Given the description of an element on the screen output the (x, y) to click on. 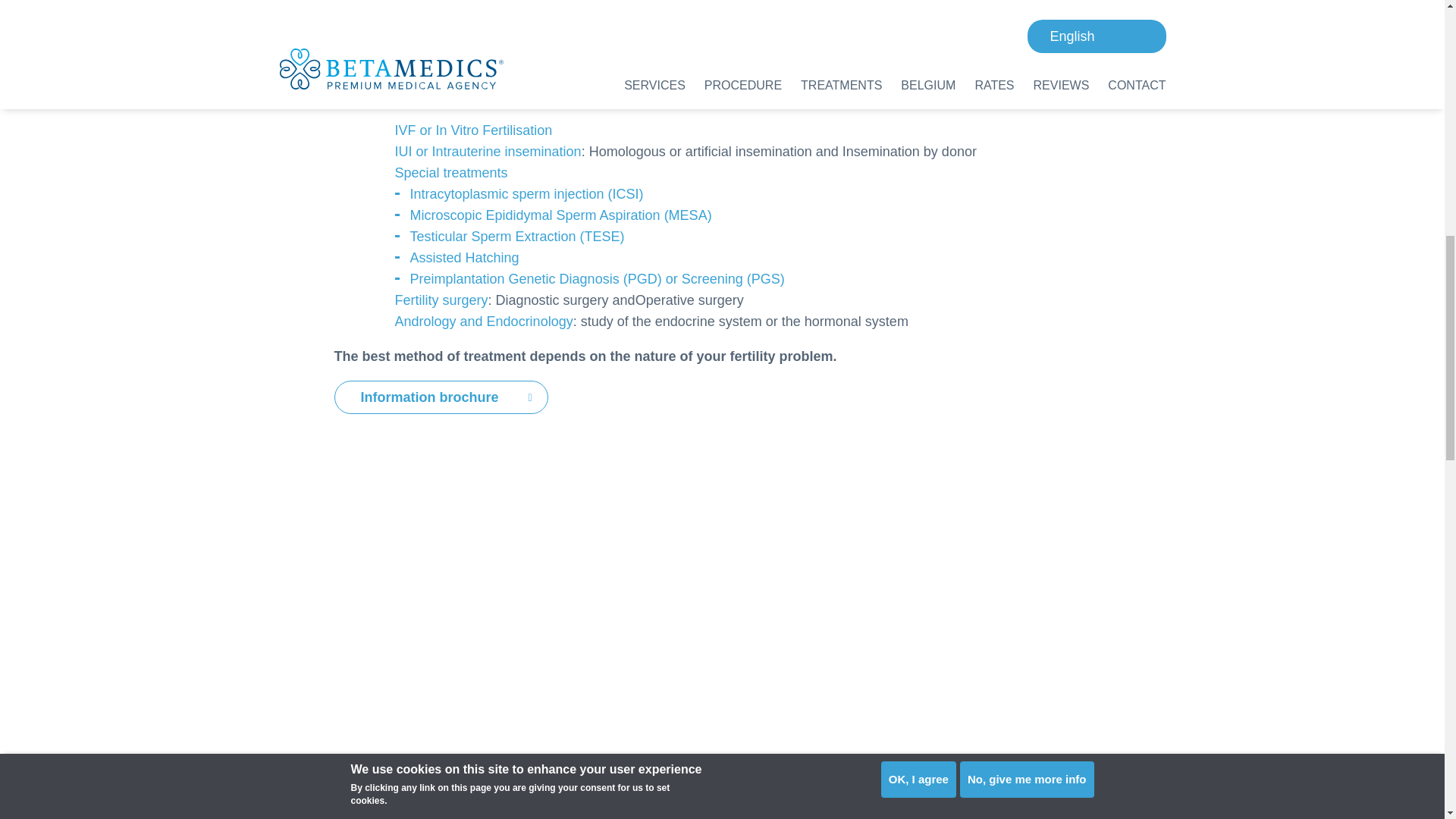
IVF or In Vitro Fertilisation (472, 130)
Andrology and Endocrinology (483, 321)
Contact us (406, 16)
Assisted Hatching (463, 257)
Fertility surgery (440, 299)
IUI or Intrauterine insemination (487, 151)
Special treatments (450, 172)
Information brochure (440, 397)
